Given the description of an element on the screen output the (x, y) to click on. 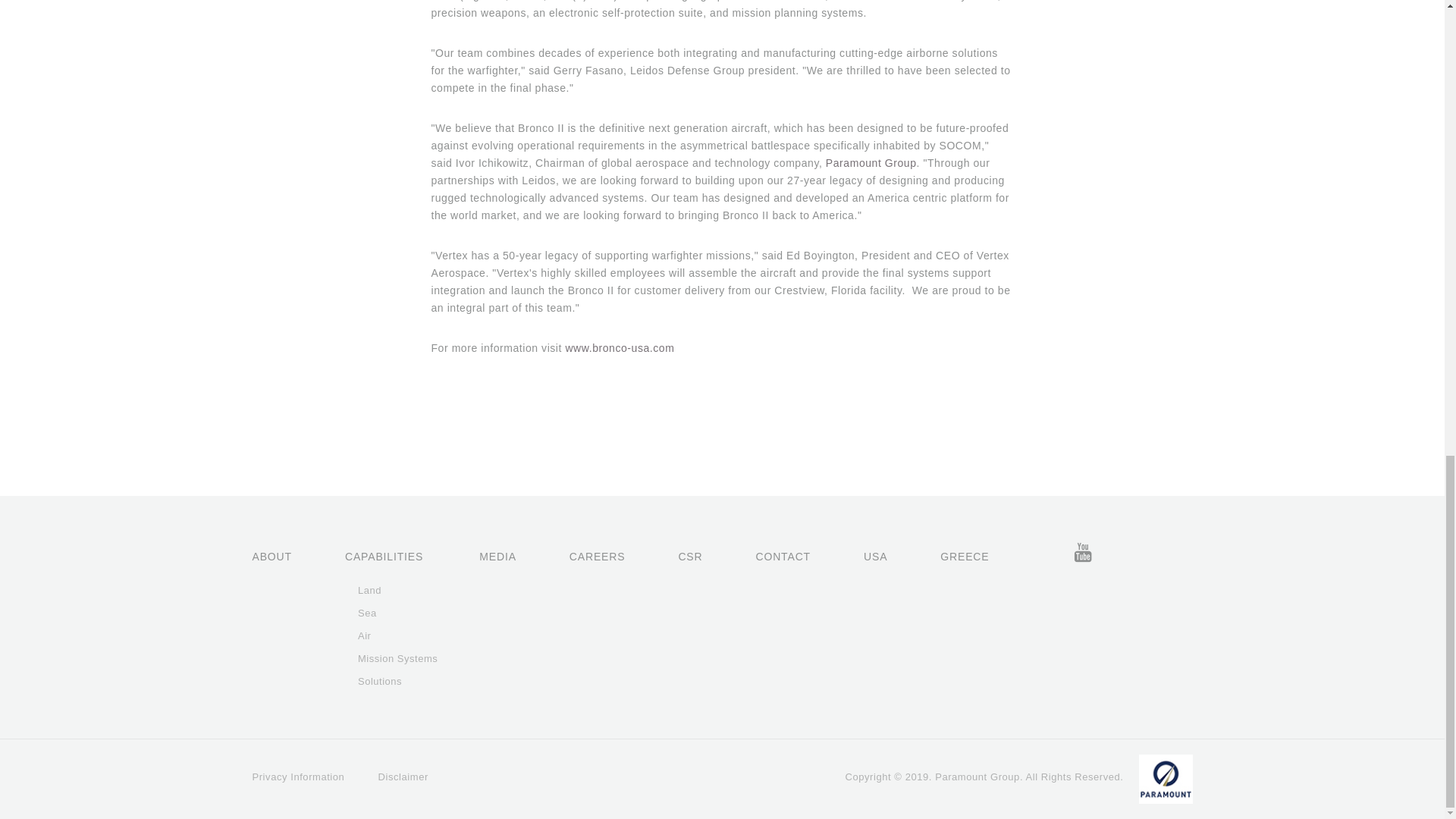
Sea (398, 612)
Disclaimer (403, 776)
USA (880, 556)
Careers (603, 556)
Contact (788, 556)
Media (503, 556)
Sea (398, 612)
CSR (695, 556)
CAPABILITIES (391, 556)
Solutions (398, 681)
